Given the description of an element on the screen output the (x, y) to click on. 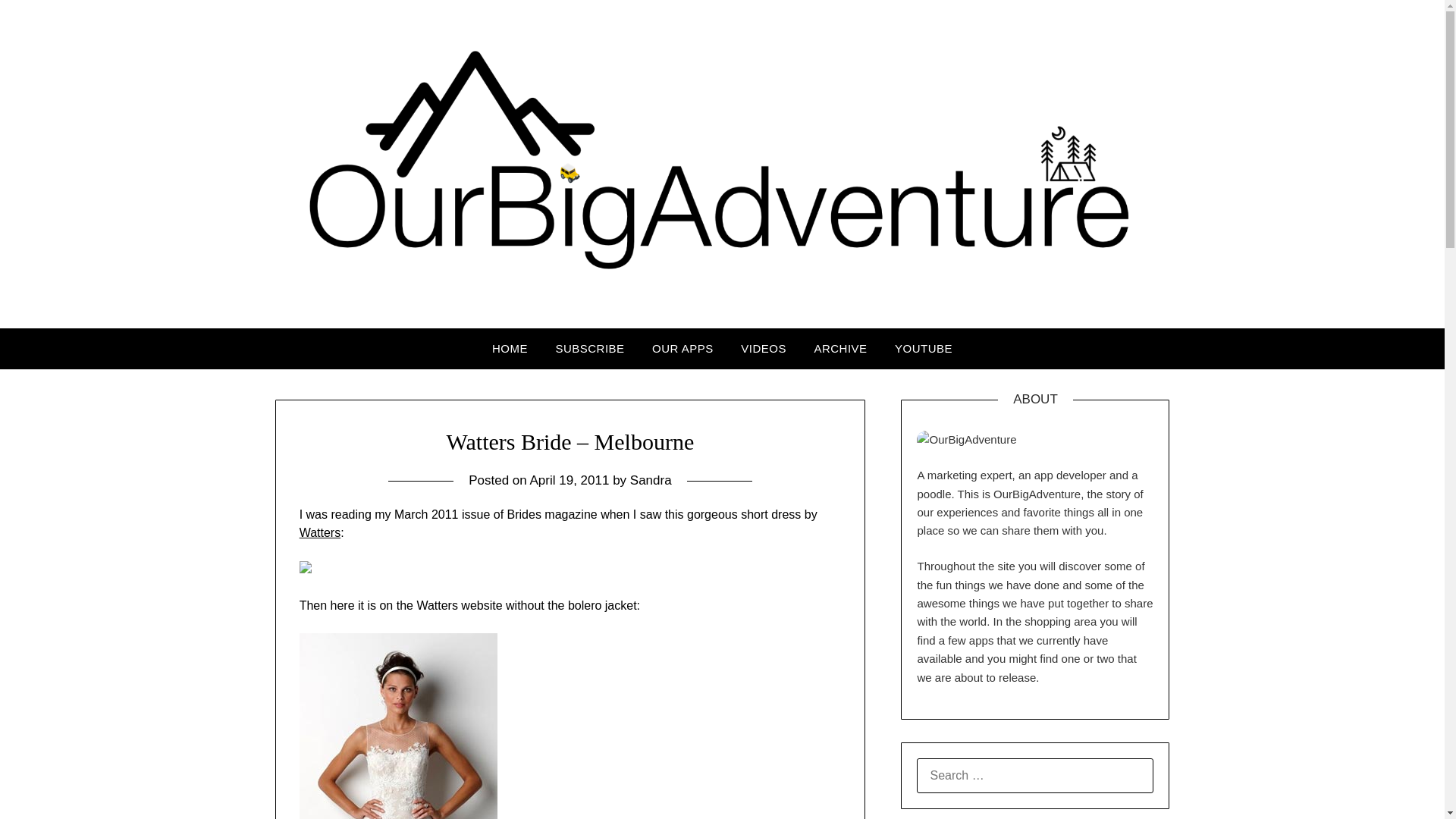
April 19, 2011 (568, 480)
Watters (319, 532)
ARCHIVE (840, 348)
Search (38, 22)
YOUTUBE (922, 348)
HOME (510, 348)
SUBSCRIBE (589, 348)
Sandra (650, 480)
OUR APPS (682, 348)
VIDEOS (763, 348)
